Given the description of an element on the screen output the (x, y) to click on. 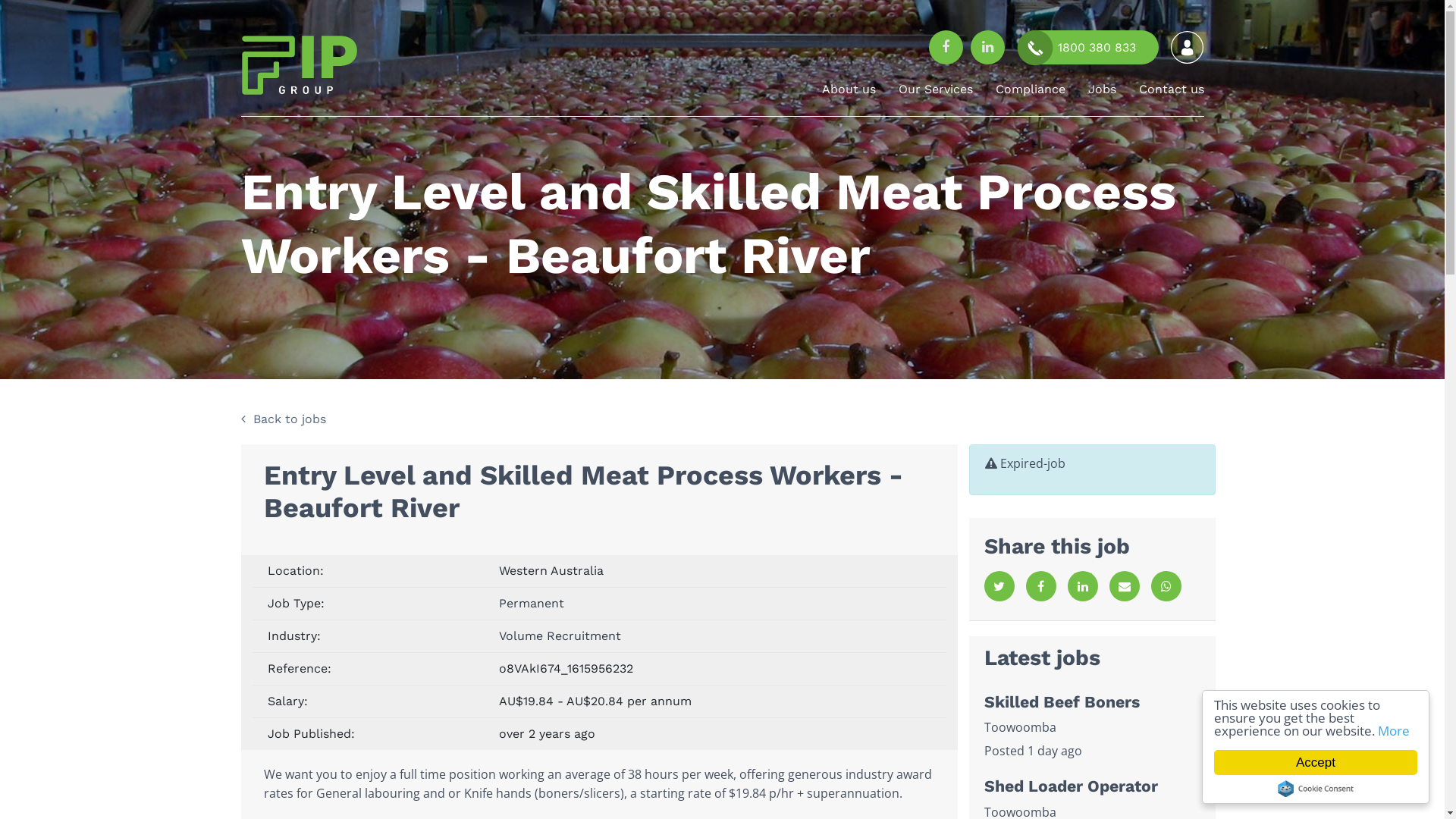
Cookie Consent plugin for the EU cookie law Element type: text (1315, 788)
Jobs Element type: text (1101, 89)
LinkedIn Element type: hover (1082, 586)
Email Element type: hover (1123, 586)
Food Industry People Element type: text (316, 64)
Twitter Element type: hover (999, 586)
About us Element type: text (848, 89)
Permanent Element type: text (531, 603)
Facebook Element type: hover (1040, 586)
Contact us Element type: text (1171, 89)
Back to jobs Element type: text (722, 419)
1800 380 833 Element type: text (1088, 47)
Volume Recruitment Element type: text (559, 635)
Skilled Beef Boners
Toowoomba
Posted 1 day ago Element type: text (1092, 726)
Compliance Element type: text (1029, 89)
Our Services Element type: text (934, 89)
Accept Element type: text (1315, 762)
More Element type: text (1393, 730)
